Given the description of an element on the screen output the (x, y) to click on. 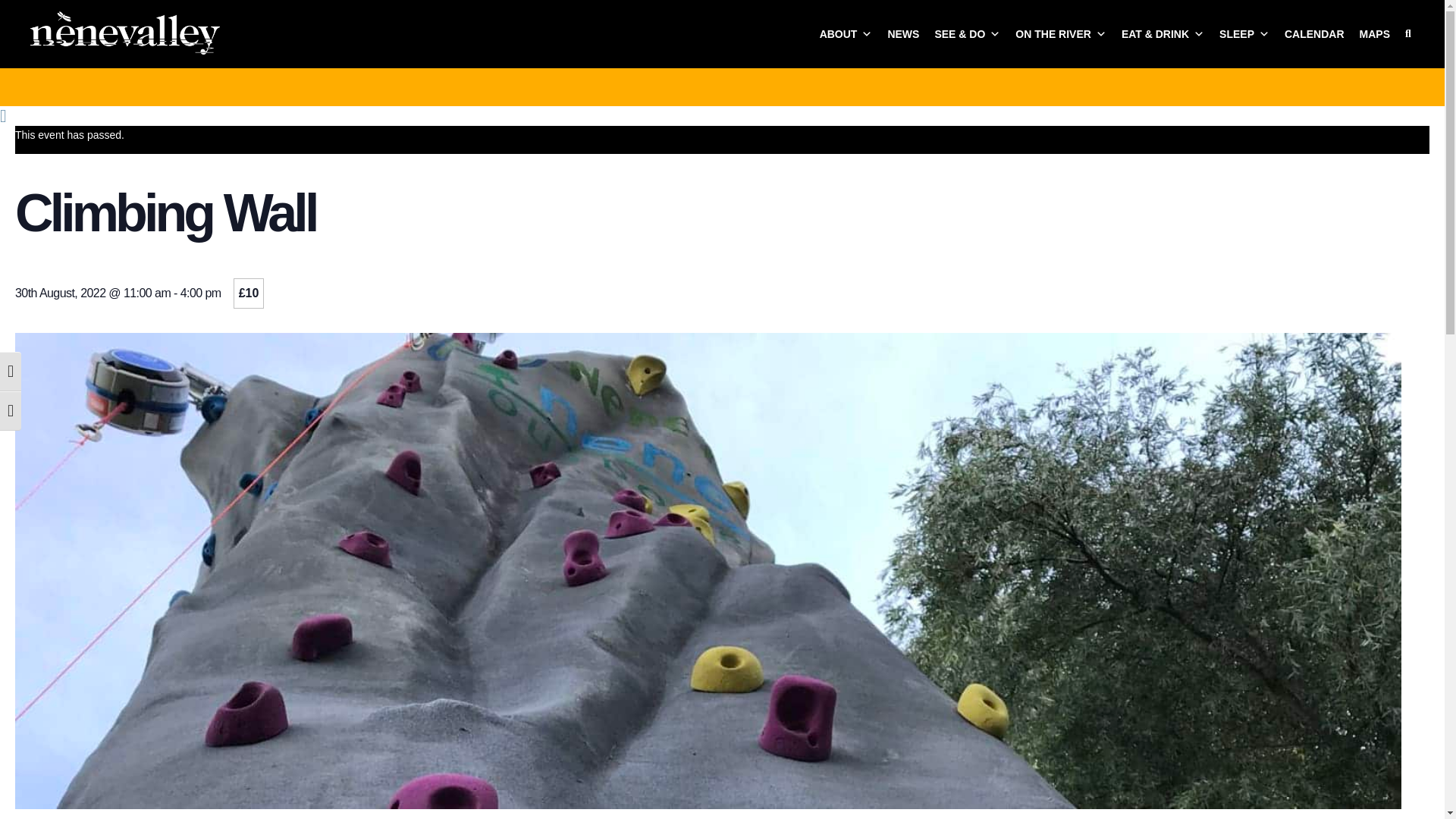
NEWS (902, 33)
Toggle High Contrast (10, 371)
Toggle Font size (10, 410)
ABOUT (846, 33)
